Given the description of an element on the screen output the (x, y) to click on. 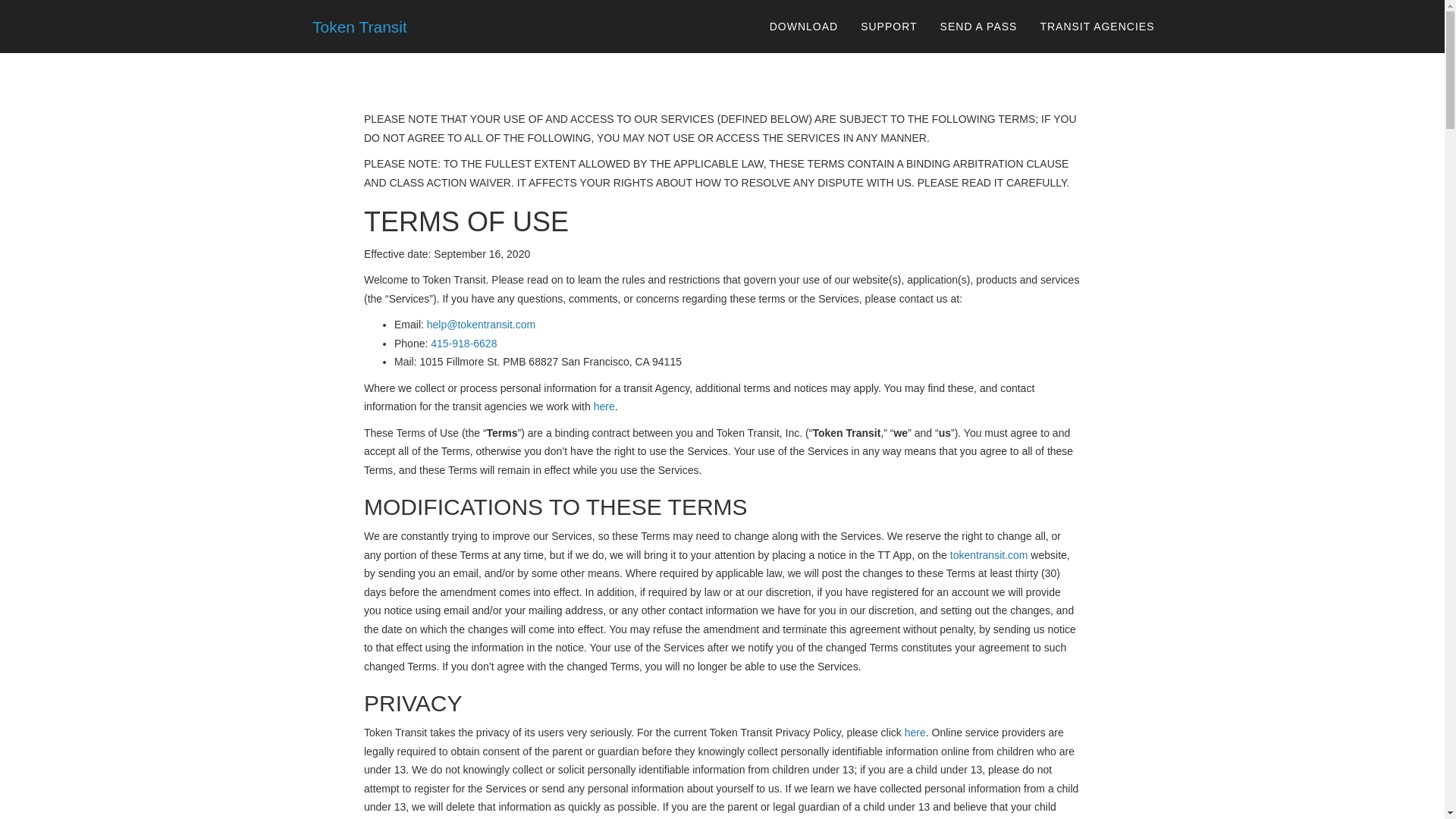
Token Transit (353, 26)
SEND A PASS (978, 26)
here (604, 406)
tokentransit.com (988, 554)
DOWNLOAD (803, 26)
SUPPORT (888, 26)
here (915, 732)
TRANSIT AGENCIES (1096, 26)
Token Transit (349, 26)
415-918-6628 (463, 343)
